Given the description of an element on the screen output the (x, y) to click on. 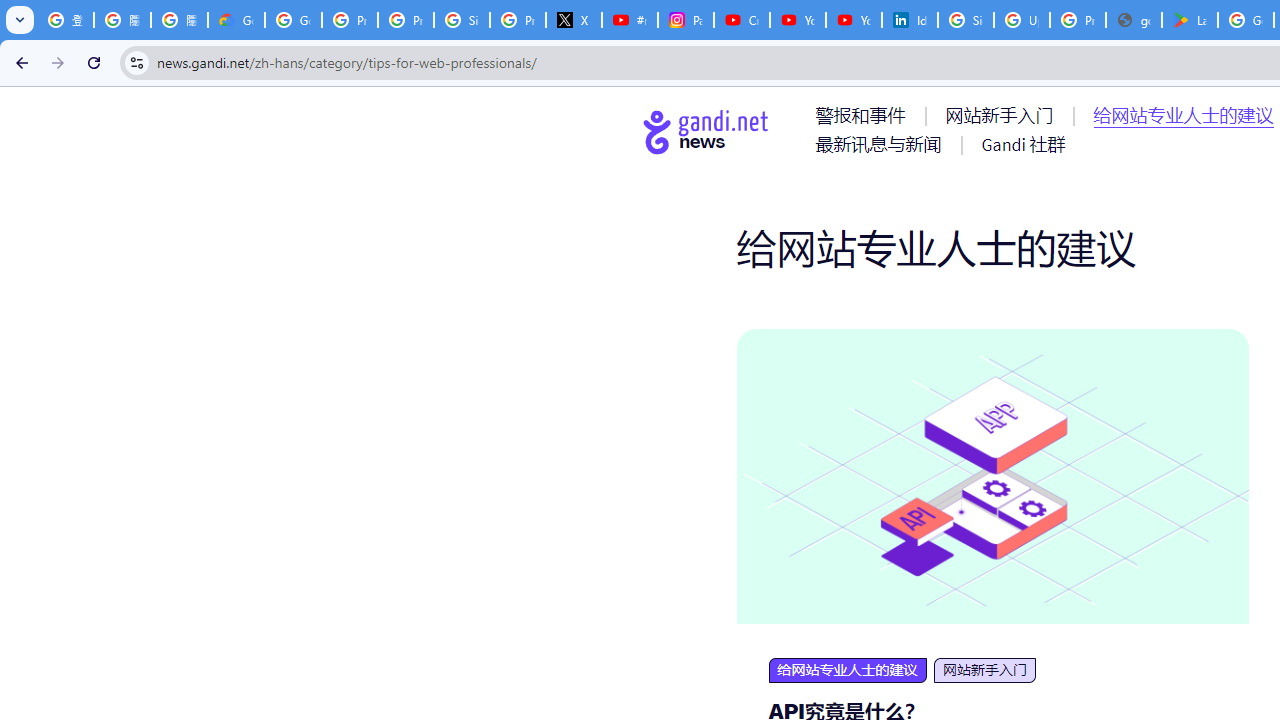
Go to home (706, 131)
#nbabasketballhighlights - YouTube (629, 20)
Privacy Help Center - Policies Help (349, 20)
YouTube Culture & Trends - YouTube Top 10, 2021 (853, 20)
google_privacy_policy_en.pdf (1133, 20)
AutomationID: menu-item-77767 (1022, 143)
Last Shelter: Survival - Apps on Google Play (1190, 20)
